Given the description of an element on the screen output the (x, y) to click on. 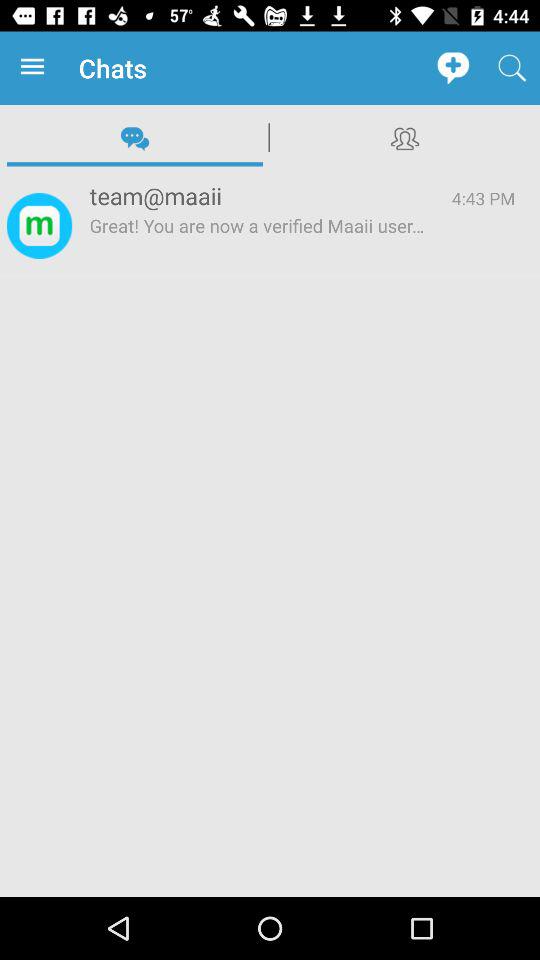
choose app to the left of 4:43 pm icon (258, 245)
